Given the description of an element on the screen output the (x, y) to click on. 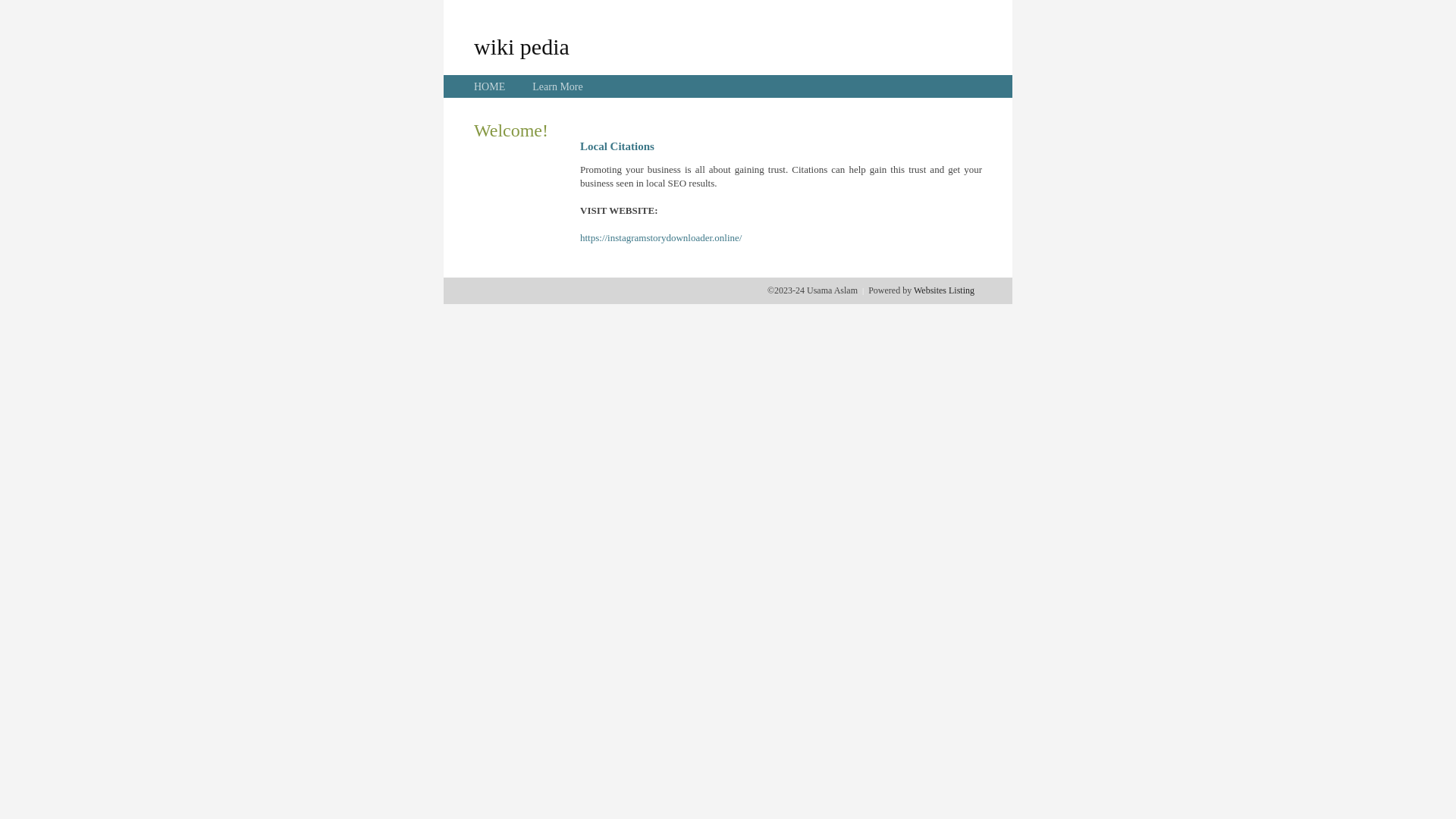
Websites Listing Element type: text (943, 290)
HOME Element type: text (489, 86)
https://instagramstorydownloader.online/ Element type: text (660, 237)
wiki pedia Element type: text (521, 46)
Learn More Element type: text (557, 86)
